Given the description of an element on the screen output the (x, y) to click on. 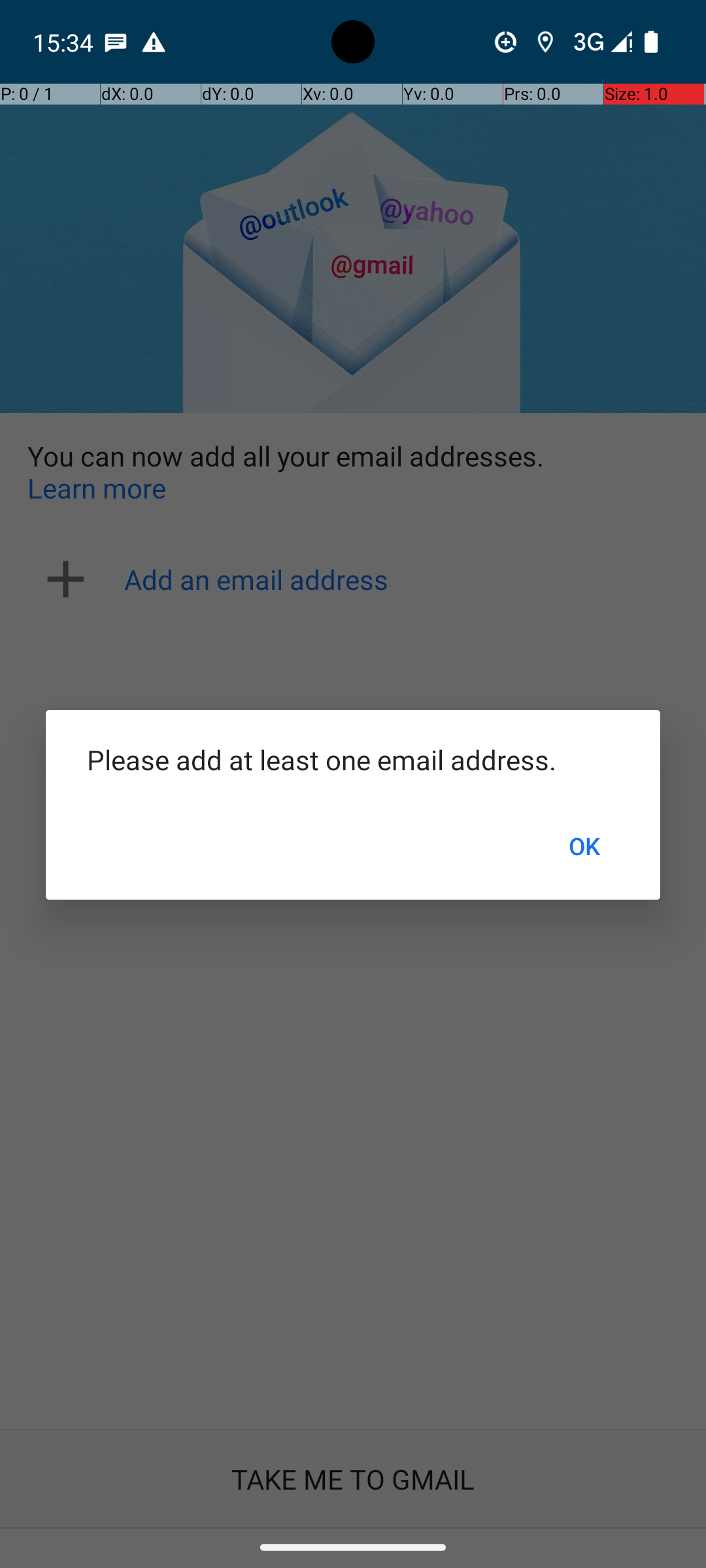
Please add at least one email address. Element type: android.widget.TextView (352, 759)
OK Element type: android.widget.Button (584, 845)
Data Saver is on Element type: android.widget.ImageView (505, 41)
Location requests active Element type: android.widget.ImageView (545, 41)
